Given the description of an element on the screen output the (x, y) to click on. 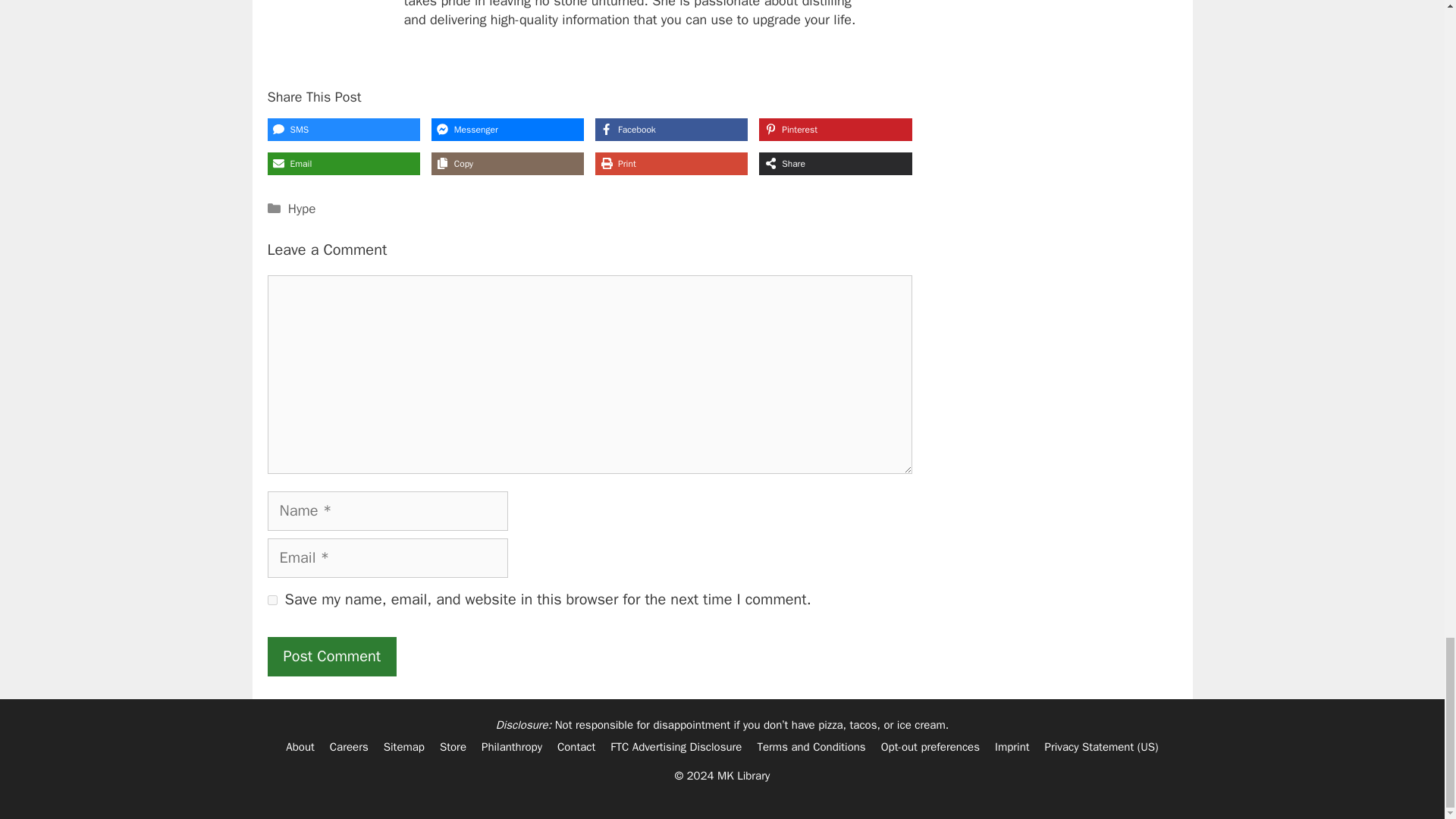
yes (271, 599)
Post Comment (331, 656)
